Given the description of an element on the screen output the (x, y) to click on. 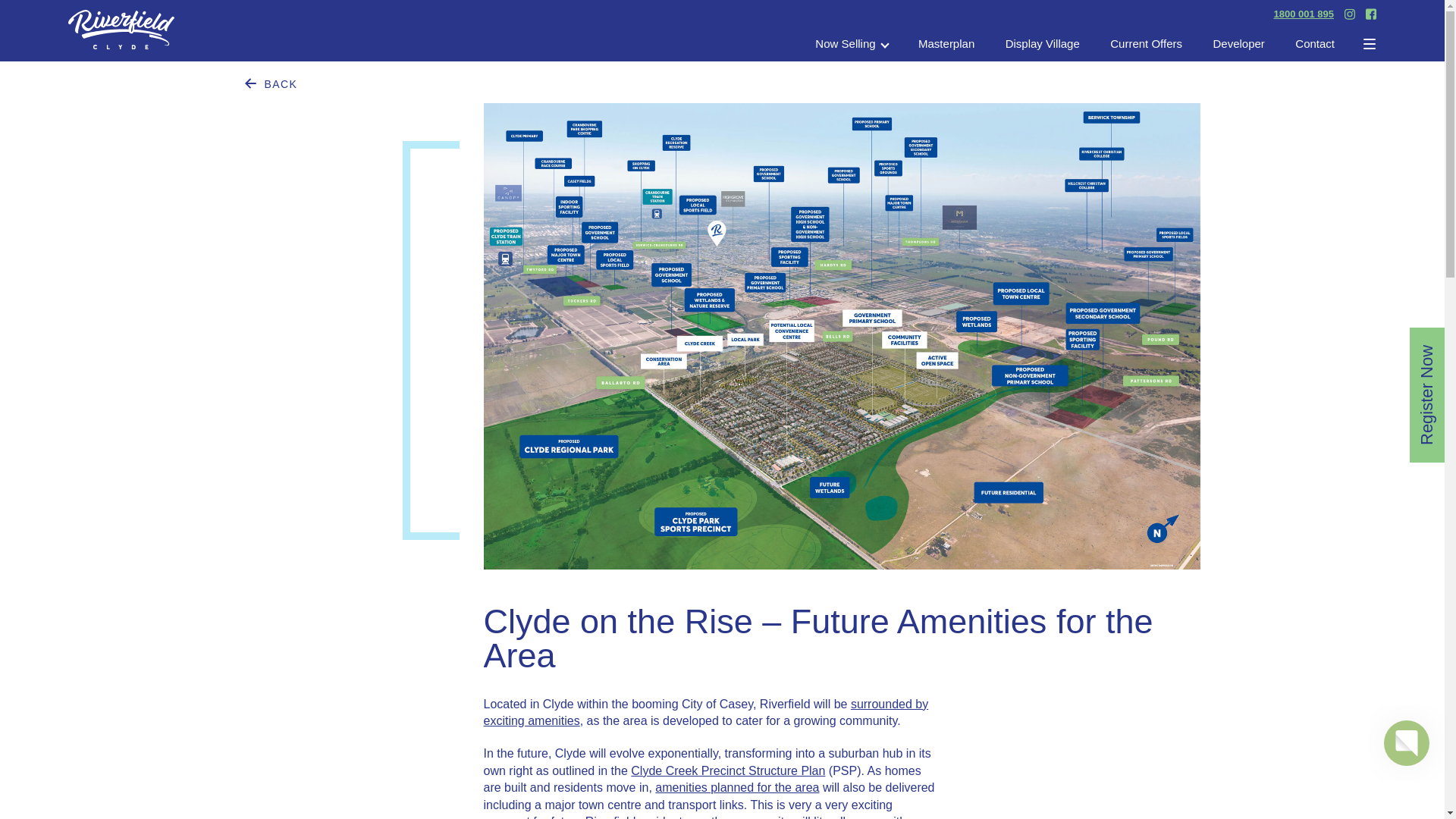
surrounded by exciting amenities (705, 712)
Masterplan (946, 44)
Clyde Creek Precinct Structure Plan (727, 770)
BACK (270, 84)
amenities planned for the area (736, 787)
Current Offers (1145, 44)
Display Village (1043, 44)
1800 001 895 (1302, 14)
Developer (1237, 44)
Contact (1315, 44)
Now Selling (850, 44)
